Given the description of an element on the screen output the (x, y) to click on. 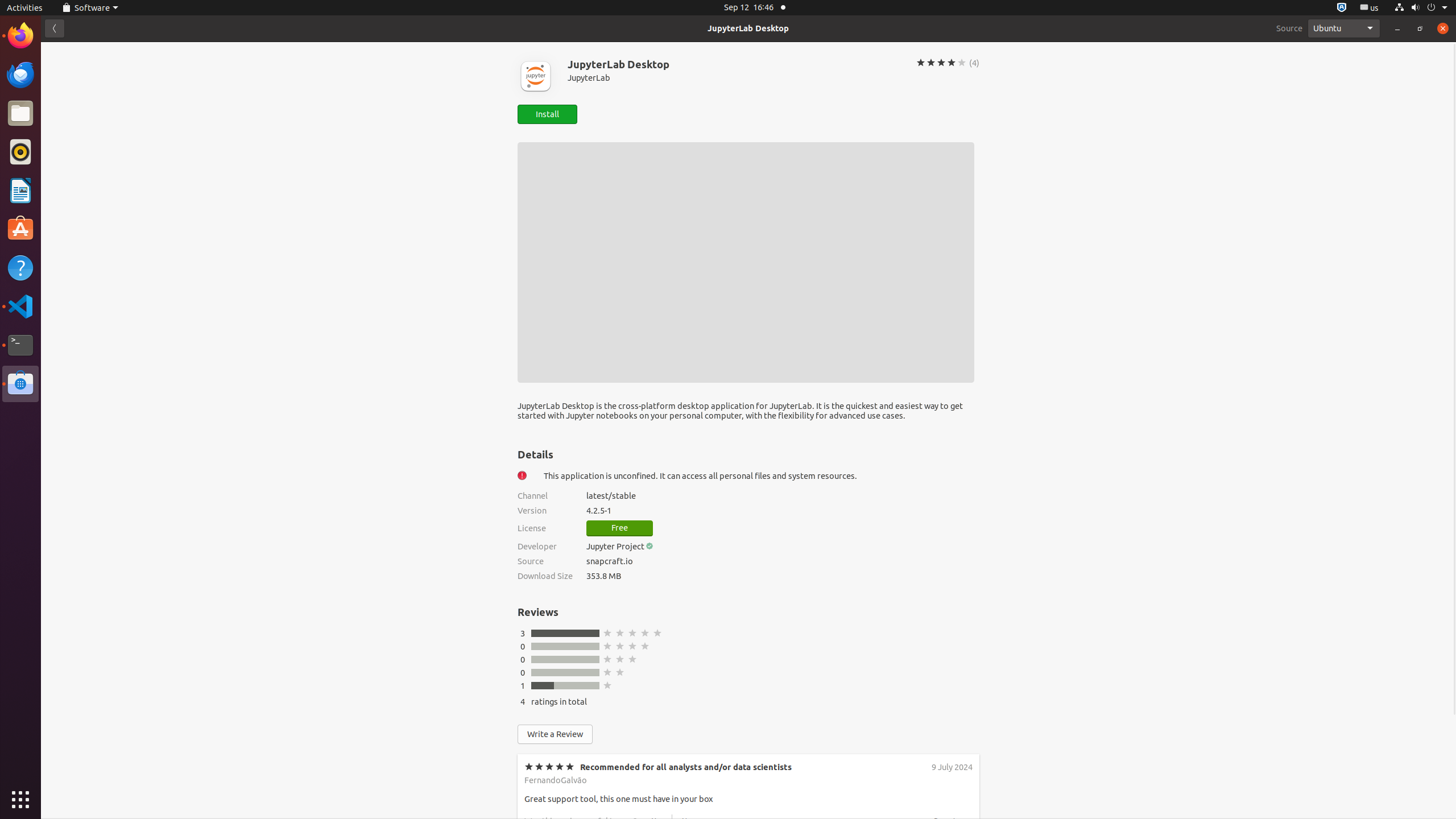
Developer Element type: label (544, 546)
Source Element type: label (1289, 27)
Activities Element type: label (24, 7)
This application is unconfined. It can access all personal files and system resources. Element type: label (761, 475)
Details Element type: label (535, 454)
